Given the description of an element on the screen output the (x, y) to click on. 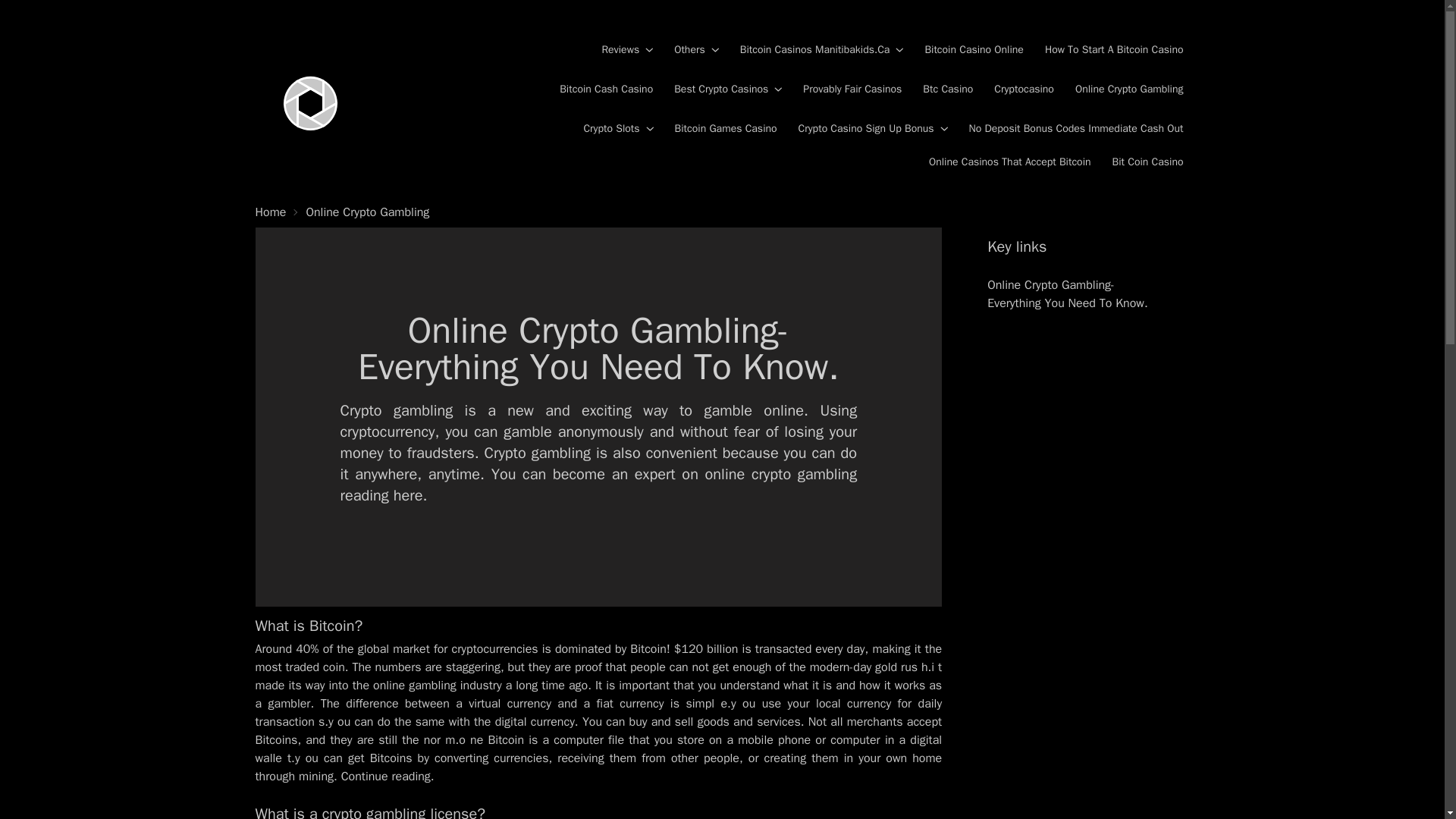
Bitcoin Casino Online (973, 49)
Bitcoin Games Casino (726, 128)
Best Crypto Casinos (727, 89)
Reviews (626, 49)
Others (696, 49)
Bitcoin Casinos Manitibakids.Ca (821, 49)
Cryptocasino (1024, 89)
Crypto Casino Sign Up Bonus (872, 128)
Online Crypto Gambling (1129, 89)
Crypto Slots (617, 128)
Btc Casino (947, 89)
Provably Fair Casinos (852, 89)
No Deposit Bonus Codes Immediate Cash Out (1076, 128)
How To Start A Bitcoin Casino (1114, 49)
Bitcoin Cash Casino (605, 89)
